Given the description of an element on the screen output the (x, y) to click on. 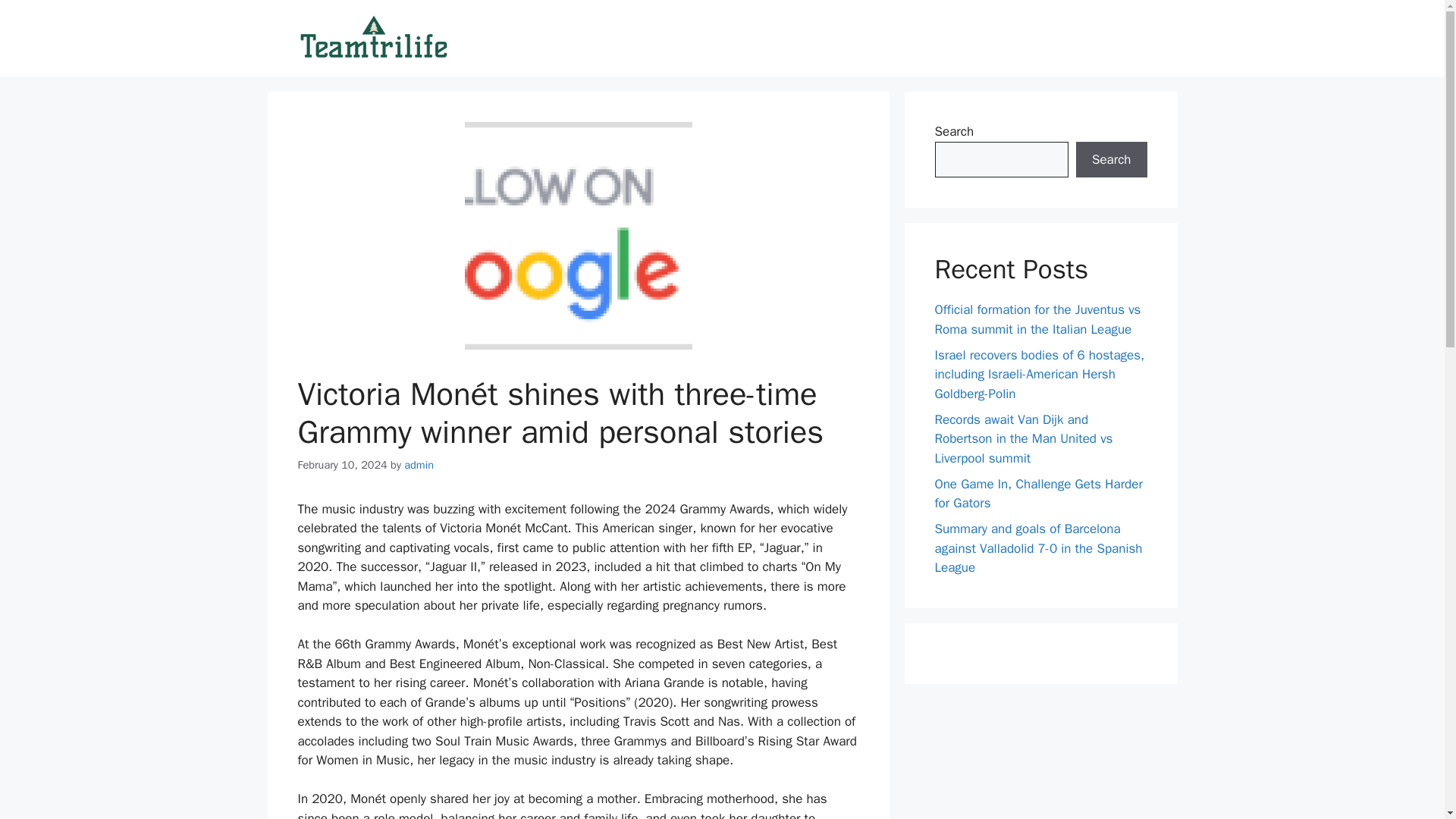
One Game In, Challenge Gets Harder for Gators (1037, 493)
admin (418, 464)
View all posts by admin (418, 464)
Search (1111, 158)
